Given the description of an element on the screen output the (x, y) to click on. 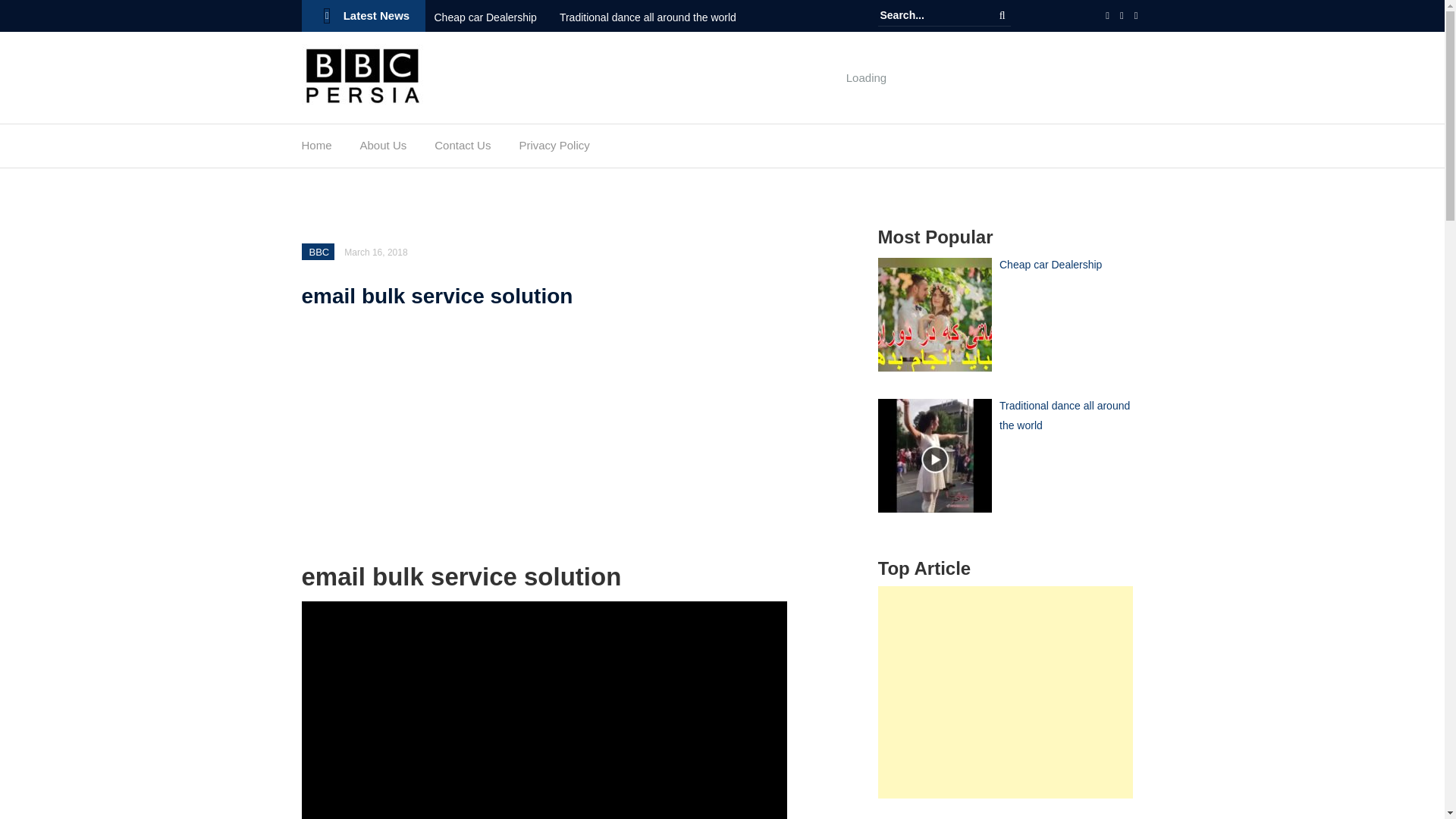
BBC (319, 251)
Privacy Policy (553, 148)
Cheap car Dealership (496, 17)
Traditional dance all around the world (658, 17)
About Us (383, 148)
Contact Us (461, 148)
Search   (1002, 14)
Home (316, 148)
